Given the description of an element on the screen output the (x, y) to click on. 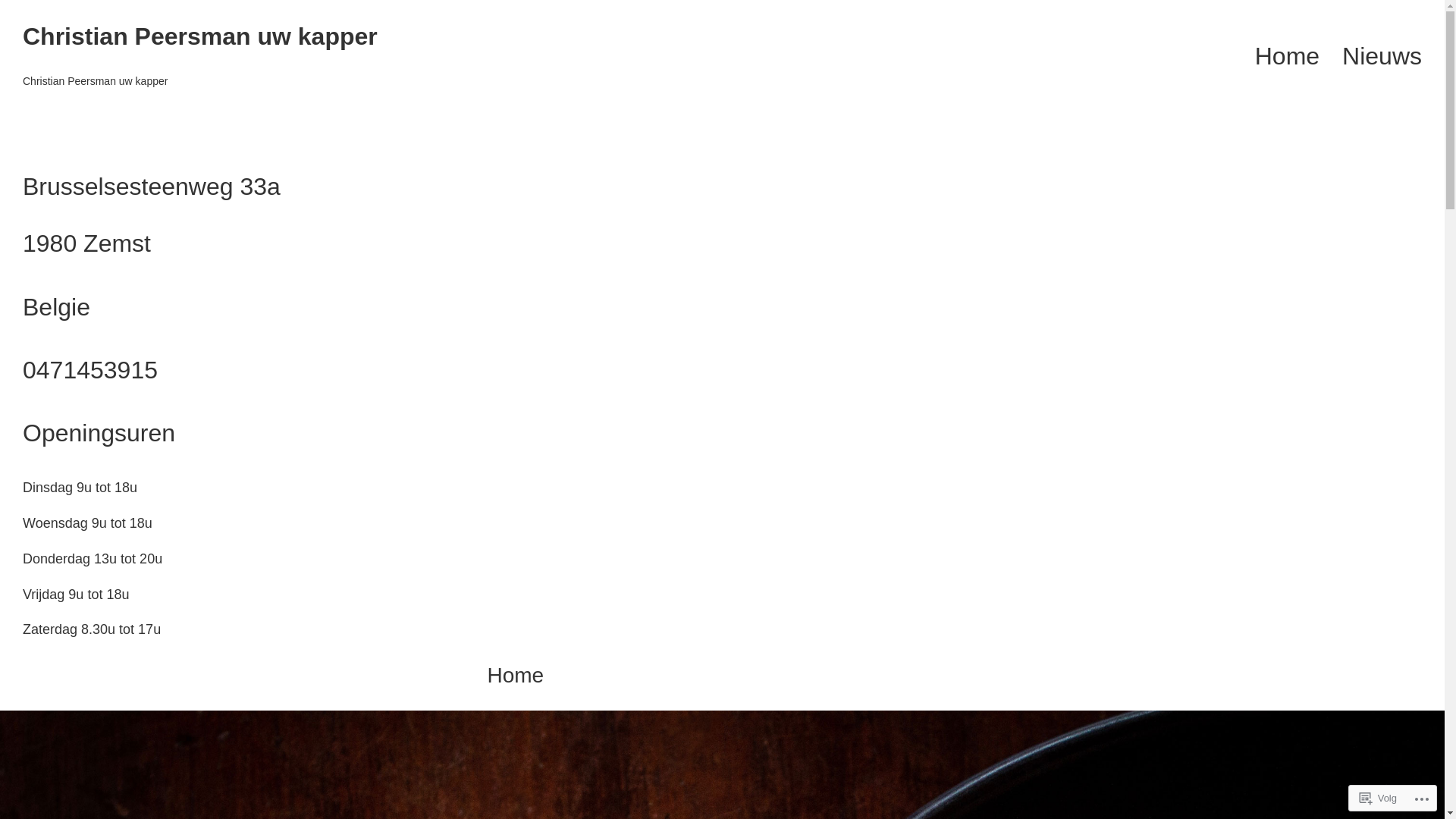
Christian Peersman uw kapper Element type: text (199, 36)
Volg Element type: text (1377, 797)
Nieuws Element type: text (1381, 56)
Home Element type: text (1287, 56)
